Given the description of an element on the screen output the (x, y) to click on. 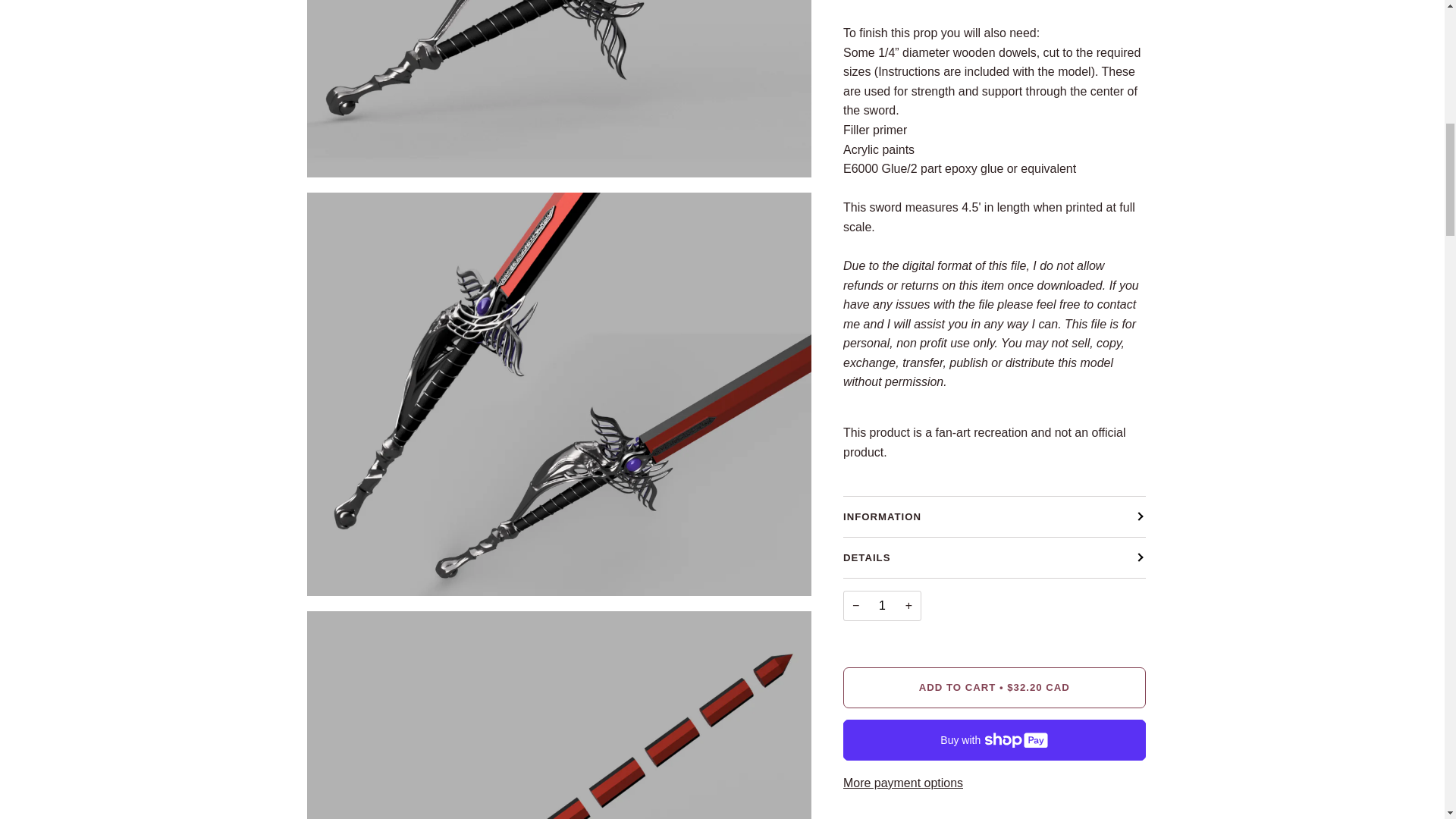
1 (882, 605)
